Given the description of an element on the screen output the (x, y) to click on. 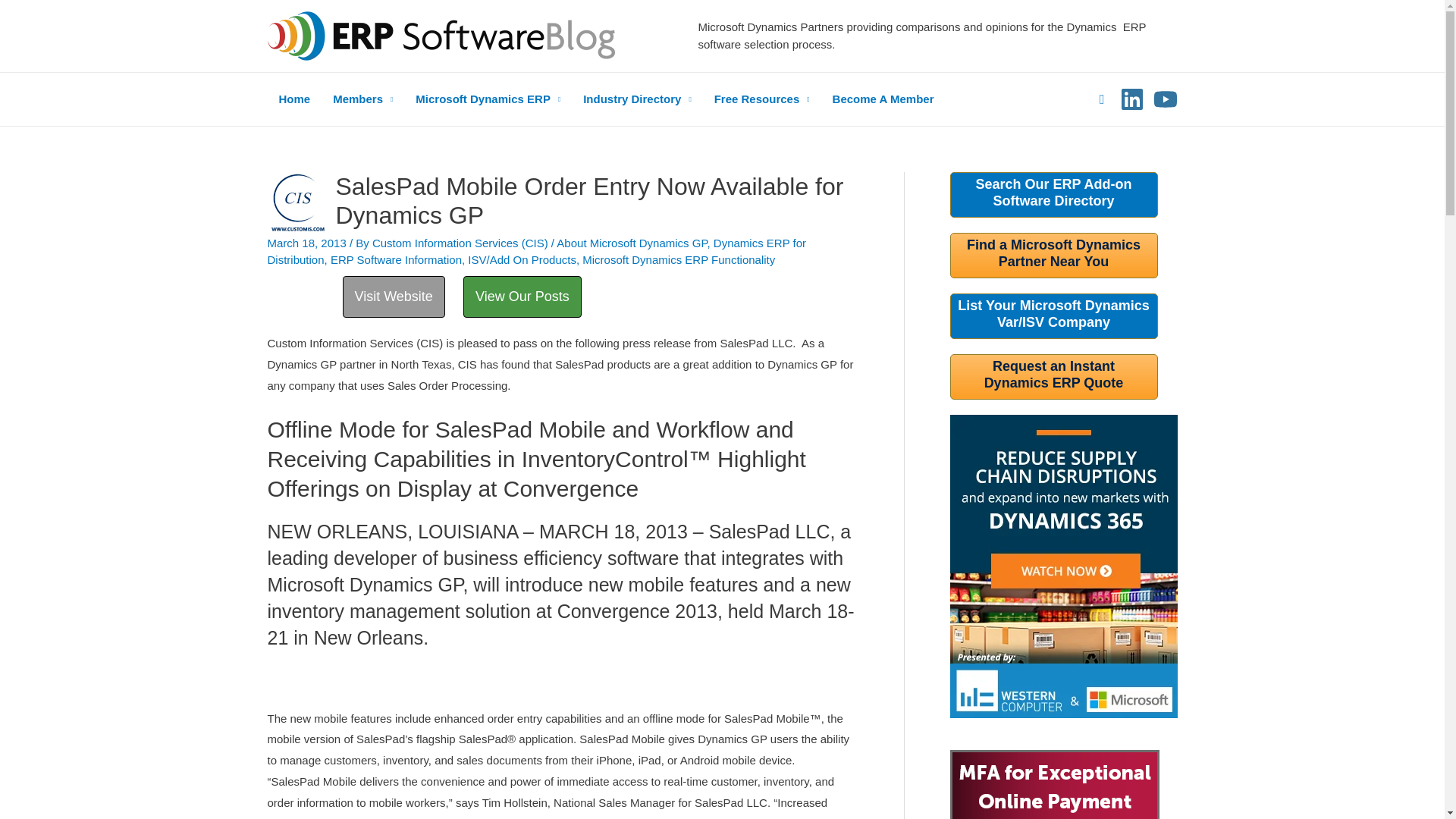
Find a Microsoft Dynamics Partner near you (1053, 253)
Industry Directory (637, 99)
Members (362, 99)
Microsoft Dynamics ERP (488, 99)
ERP Add-on Directory (1053, 192)
Home (293, 99)
Find a Microsoft Dynamics Partner near you (1053, 314)
